Given the description of an element on the screen output the (x, y) to click on. 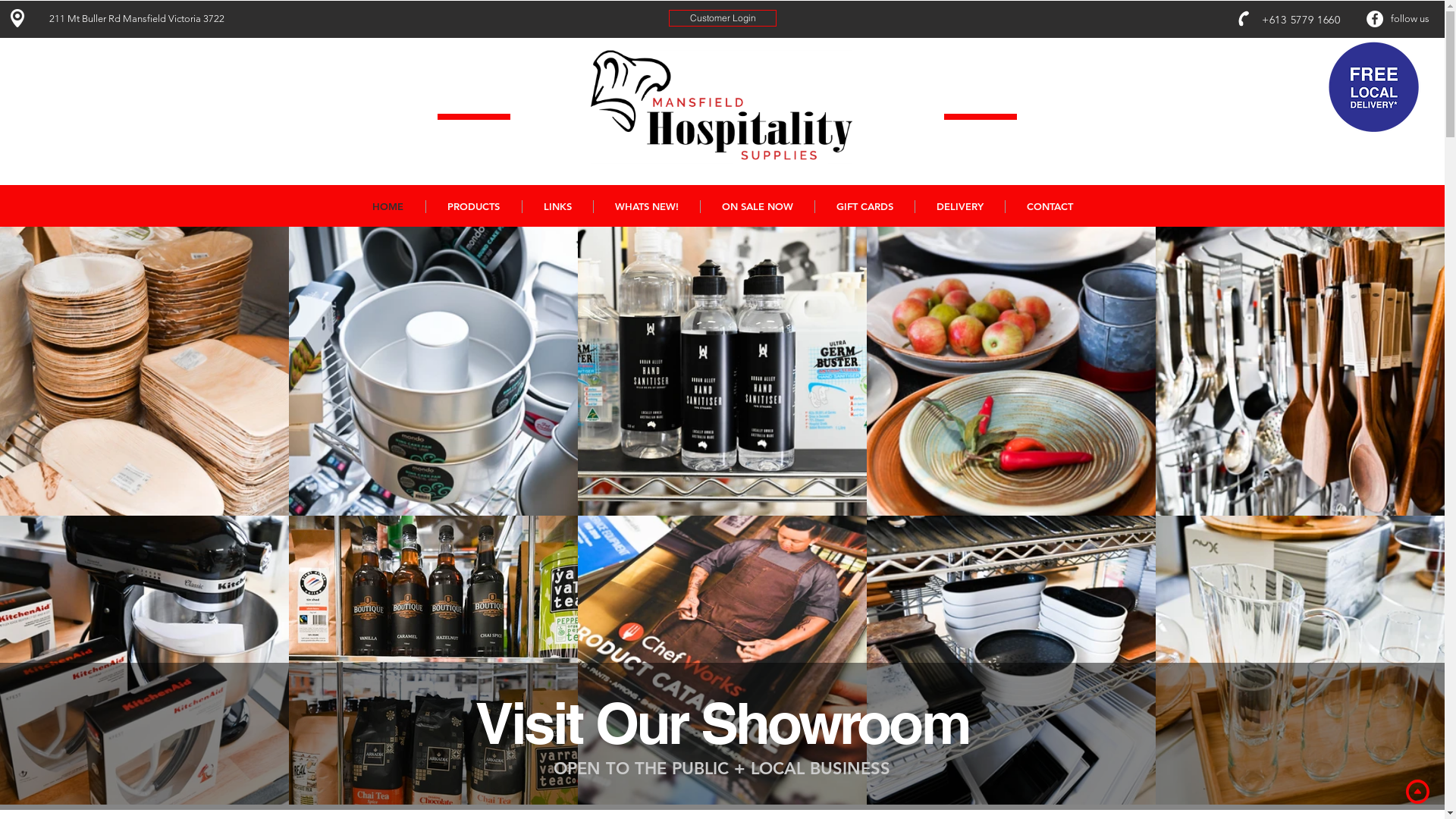
DELIVERY Element type: text (959, 206)
WHATS NEW! Element type: text (646, 206)
Customer Login Element type: text (722, 17)
HOME Element type: text (387, 206)
CONTACT Element type: text (1048, 206)
LINKS Element type: text (557, 206)
ON SALE NOW Element type: text (756, 206)
GIFT CARDS Element type: text (864, 206)
